Given the description of an element on the screen output the (x, y) to click on. 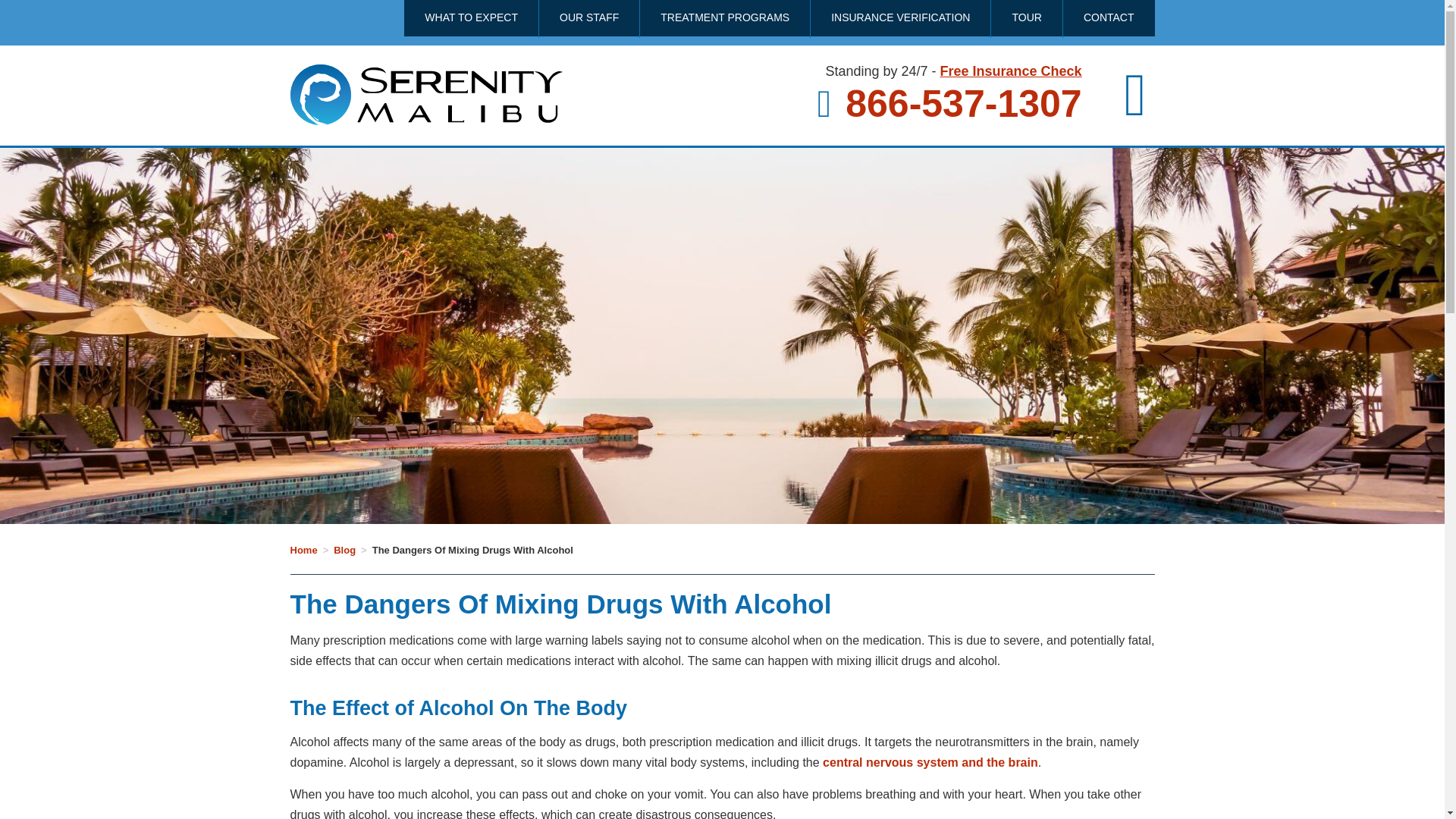
INSURANCE VERIFICATION (900, 18)
The Dangers Of Mixing Drugs With Alcohol (472, 550)
central nervous system and the brain (930, 762)
Home (303, 550)
TREATMENT PROGRAMS (724, 18)
Blog (344, 550)
866-537-1307 (948, 103)
WHAT TO EXPECT (471, 18)
Free Insurance Check (1010, 70)
OUR STAFF (588, 18)
CONTACT (1108, 18)
TOUR (1026, 18)
Home (303, 550)
